Given the description of an element on the screen output the (x, y) to click on. 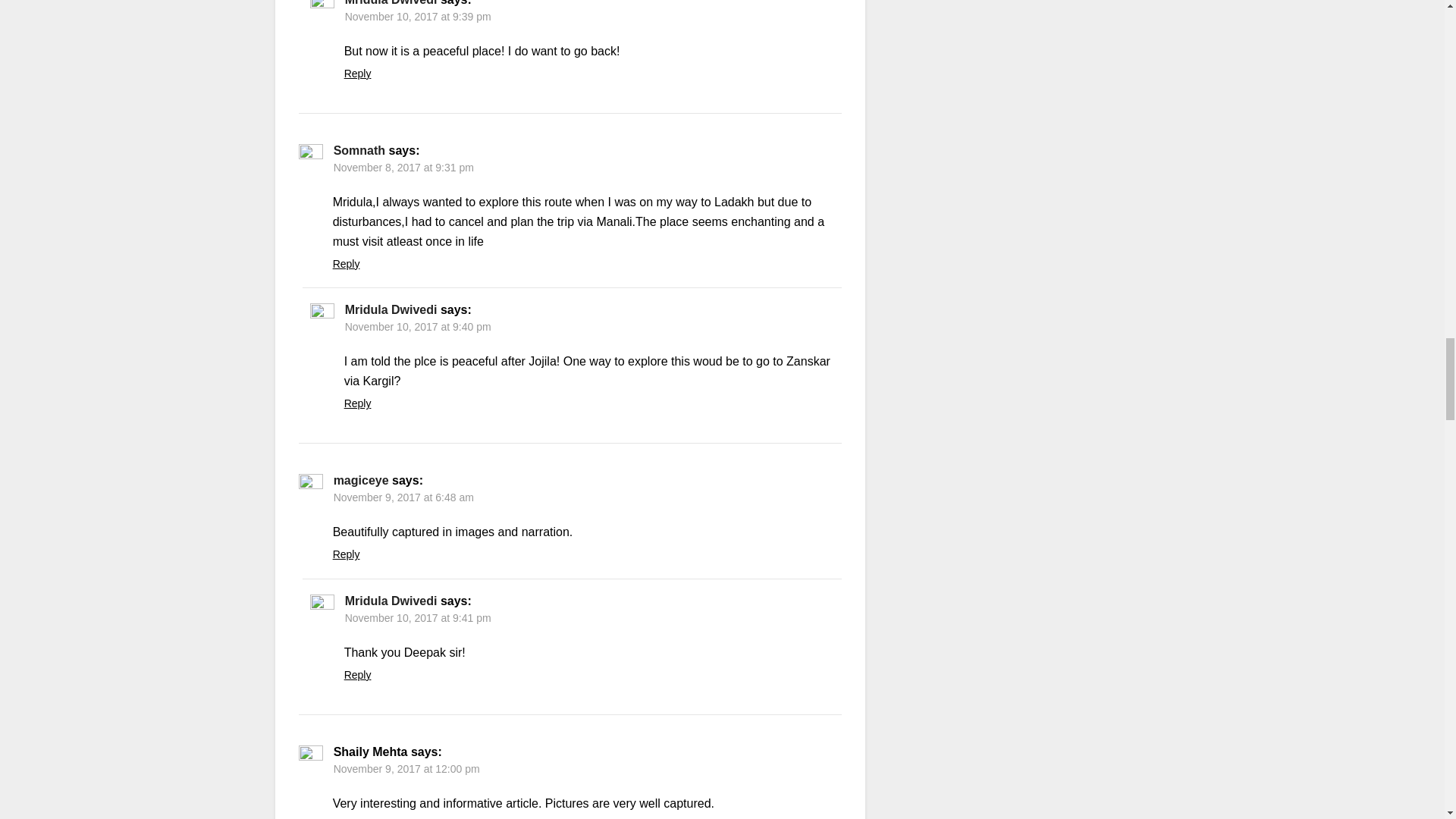
November 10, 2017 at 9:39 pm (418, 16)
Mridula Dwivedi (391, 309)
November 8, 2017 at 9:31 pm (403, 167)
Somnath (359, 150)
Reply (346, 263)
November 10, 2017 at 9:41 pm (418, 617)
magiceye (360, 480)
Mridula Dwivedi (391, 2)
Mridula Dwivedi (391, 600)
November 9, 2017 at 6:48 am (403, 497)
